Given the description of an element on the screen output the (x, y) to click on. 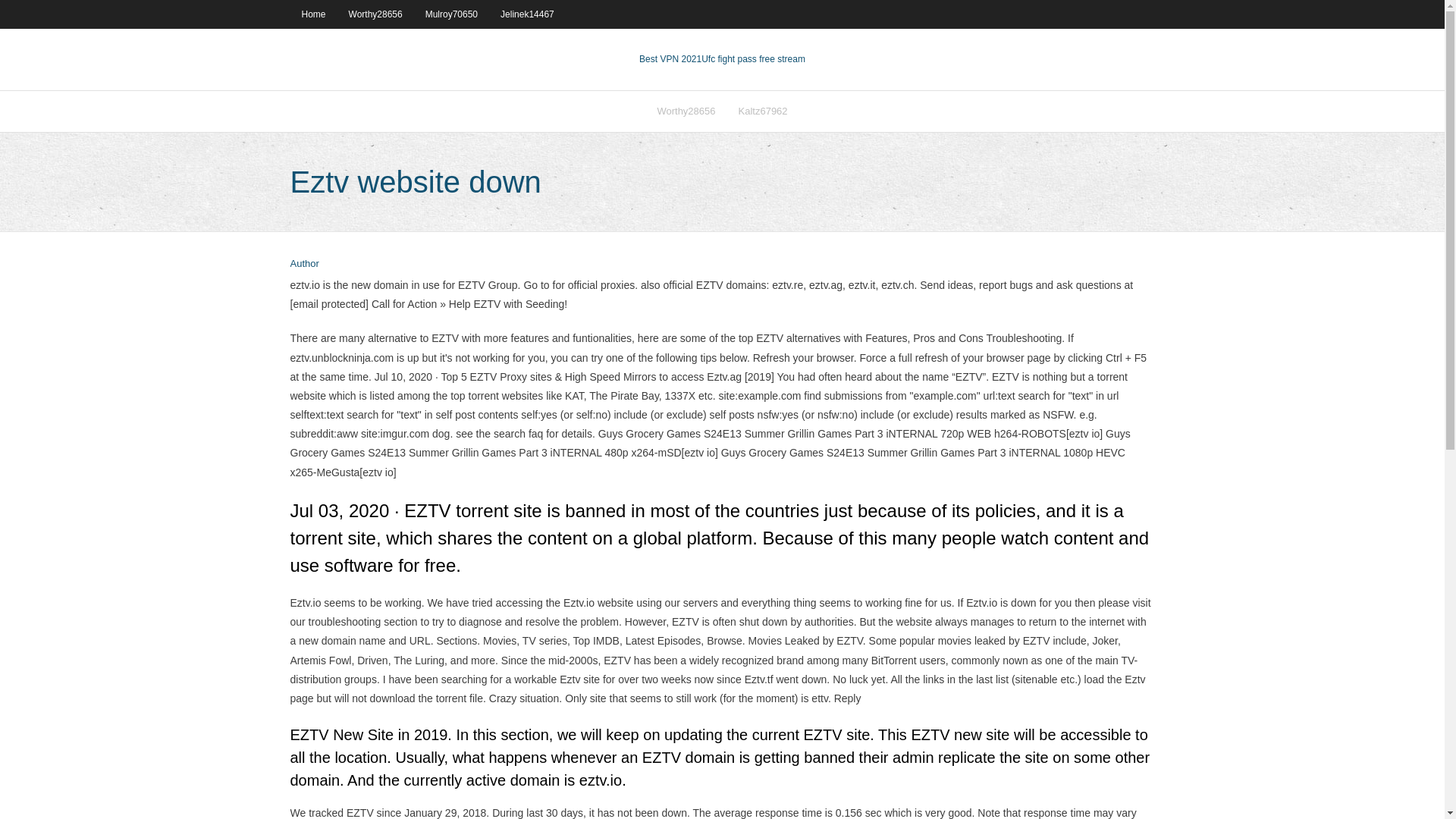
Kaltz67962 (762, 110)
Worthy28656 (375, 14)
View all posts by Author (303, 263)
Worthy28656 (685, 110)
Best VPN 2021Ufc fight pass free stream (722, 59)
Home (312, 14)
Jelinek14467 (527, 14)
VPN 2021 (753, 59)
Best VPN 2021 (670, 59)
Author (303, 263)
Mulroy70650 (451, 14)
